Given the description of an element on the screen output the (x, y) to click on. 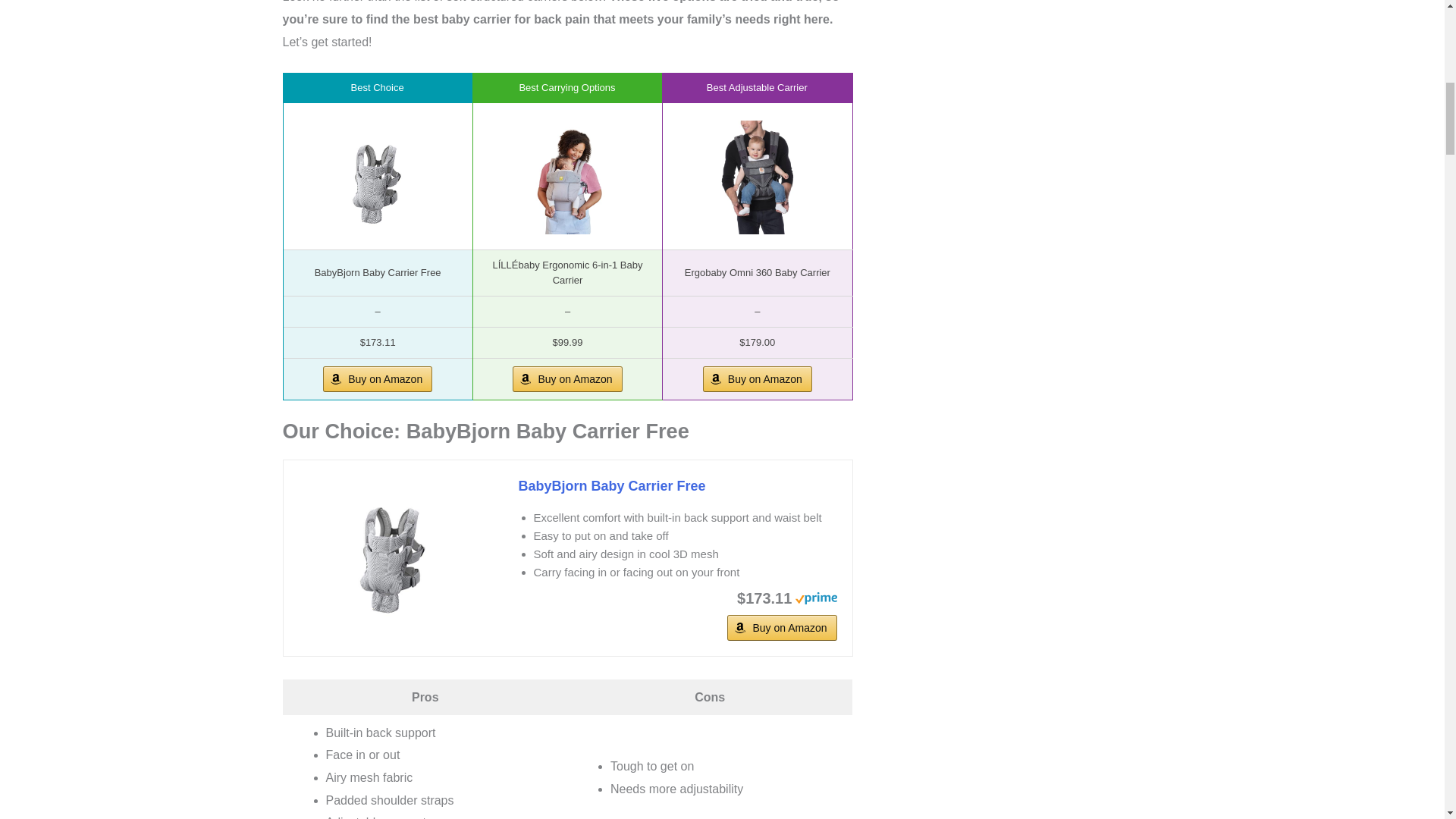
Buy on Amazon (566, 379)
Buy on Amazon (377, 379)
Buy on Amazon (780, 627)
Amazon Prime (814, 596)
BabyBjorn Baby Carrier Free (392, 551)
Buy on Amazon (757, 379)
BabyBjorn Baby Carrier Free (677, 486)
